Given the description of an element on the screen output the (x, y) to click on. 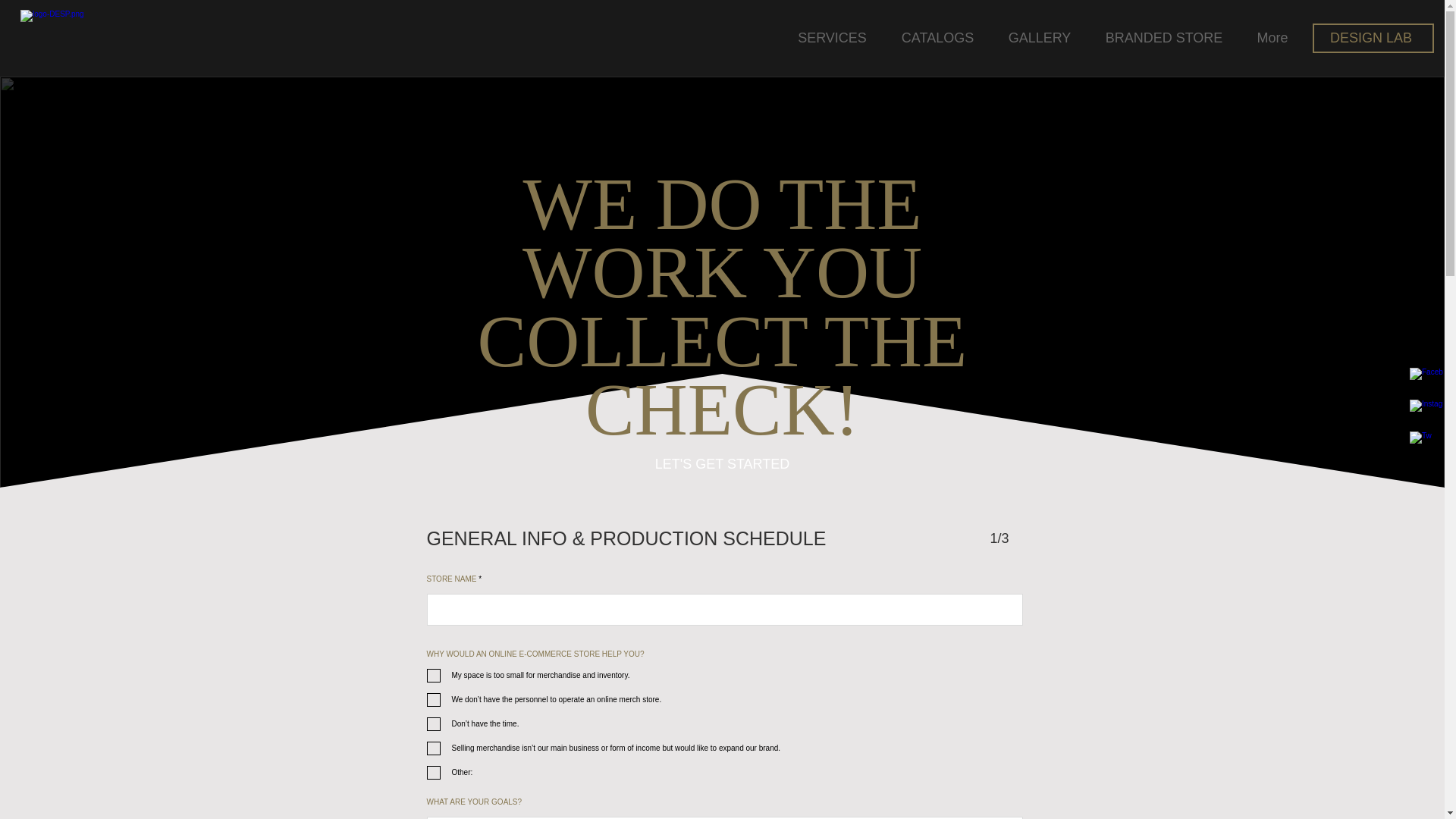
DESIGN LAB (1373, 38)
GALLERY (1039, 37)
CATALOGS (937, 37)
